Given the description of an element on the screen output the (x, y) to click on. 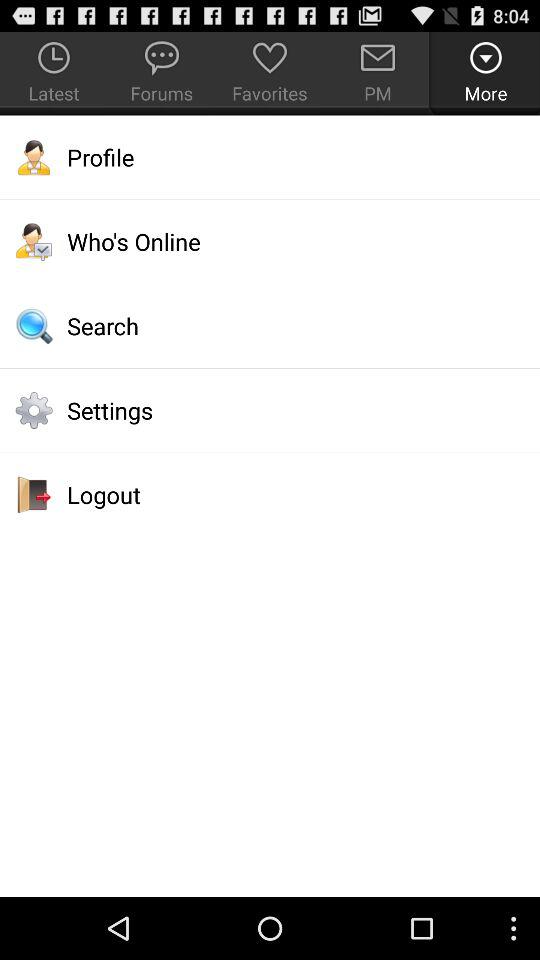
tap app above   search item (270, 241)
